Given the description of an element on the screen output the (x, y) to click on. 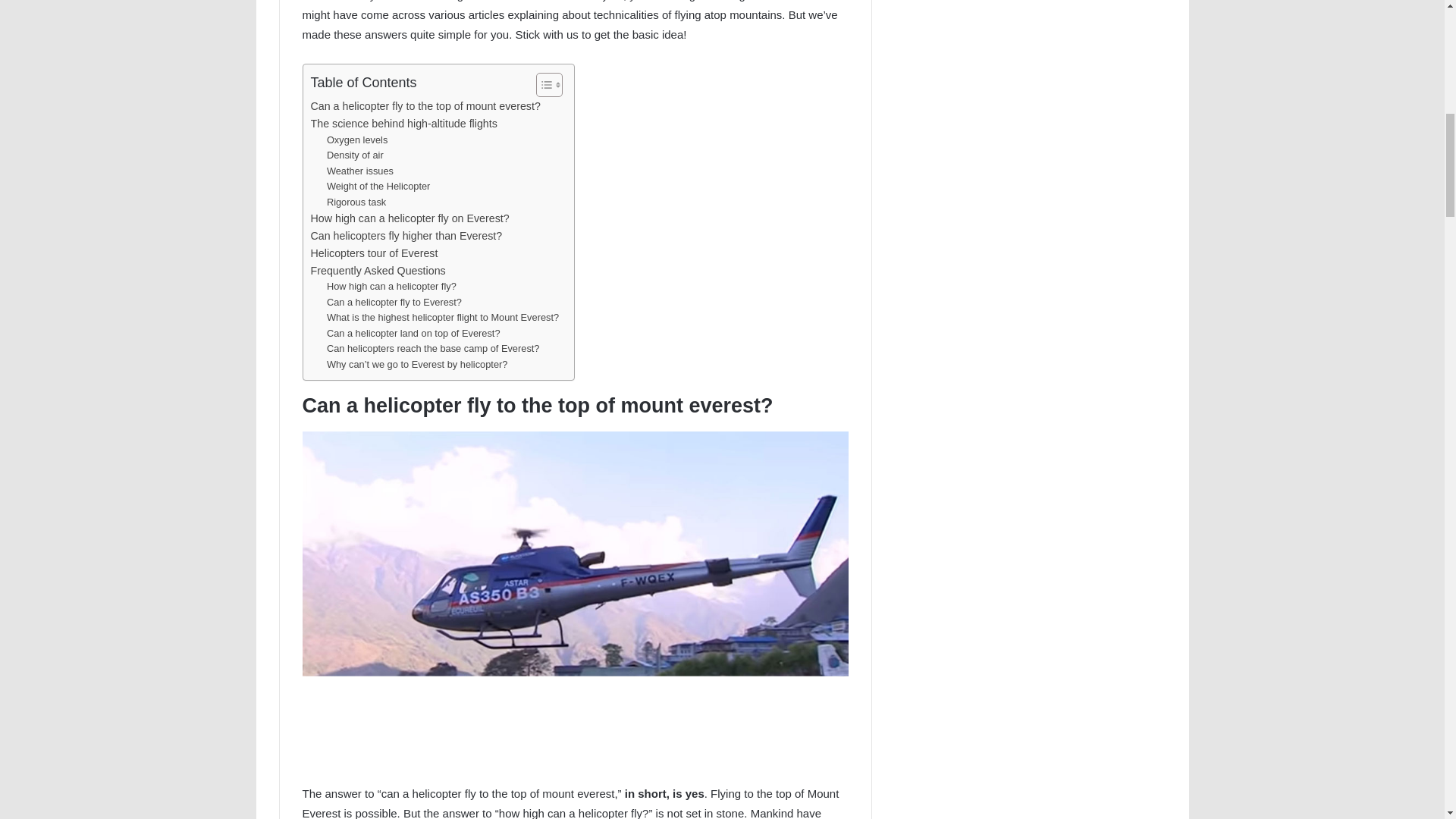
How high can a helicopter fly on Everest? (410, 218)
How high can a helicopter fly on Everest? (410, 218)
Can helicopters reach the base camp of Everest? (433, 349)
What is the highest helicopter flight to Mount Everest? (442, 317)
Can a helicopter fly to the top of mount everest? (425, 106)
Rigorous task (355, 202)
The science behind high-altitude flights (404, 123)
Can a helicopter fly to Everest? (393, 302)
Can helicopters fly higher than Everest? (406, 235)
Weather issues (359, 171)
Can helicopters fly higher than Everest? (406, 235)
Rigorous task (355, 202)
Helicopters tour of Everest (374, 253)
Frequently Asked Questions (378, 271)
The science behind high-altitude flights (404, 123)
